Given the description of an element on the screen output the (x, y) to click on. 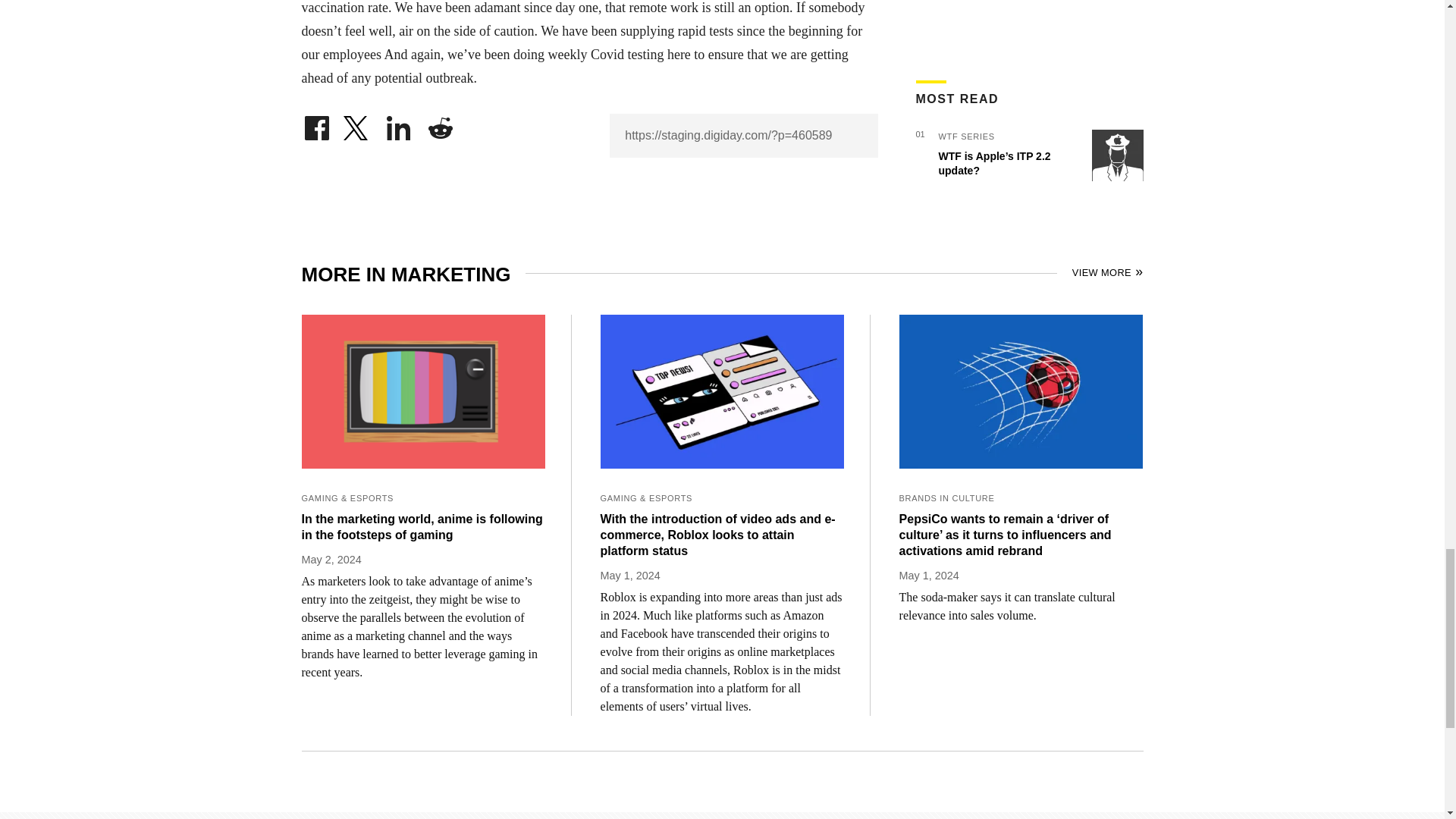
Share on Facebook (316, 124)
Share on Reddit (440, 124)
Share on Twitter (357, 124)
Share on LinkedIn (398, 124)
